Given the description of an element on the screen output the (x, y) to click on. 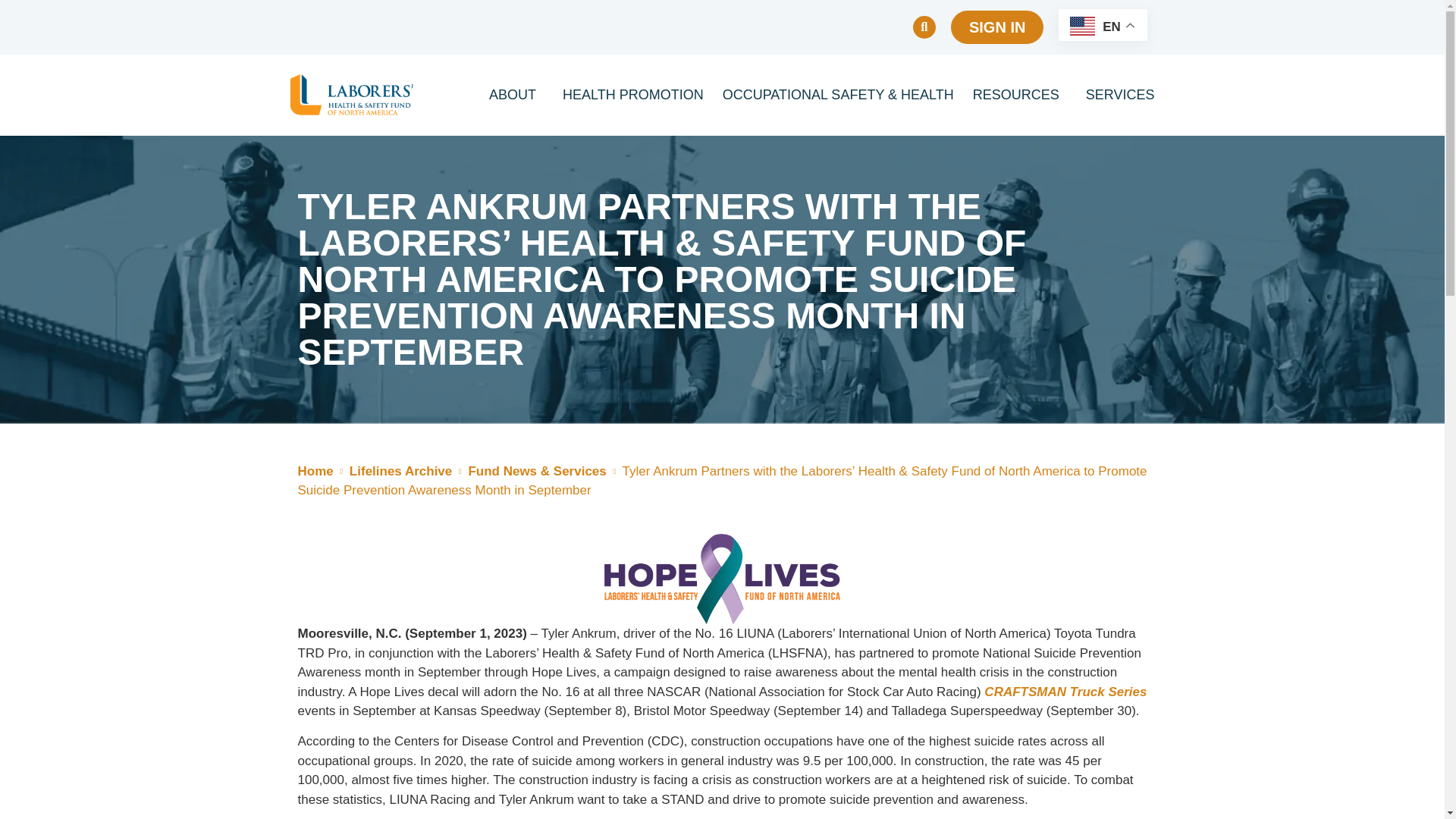
ABOUT (516, 94)
HEALTH PROMOTION (632, 94)
RESOURCES (1019, 94)
SERVICES (1120, 94)
SIGN IN (996, 27)
